Given the description of an element on the screen output the (x, y) to click on. 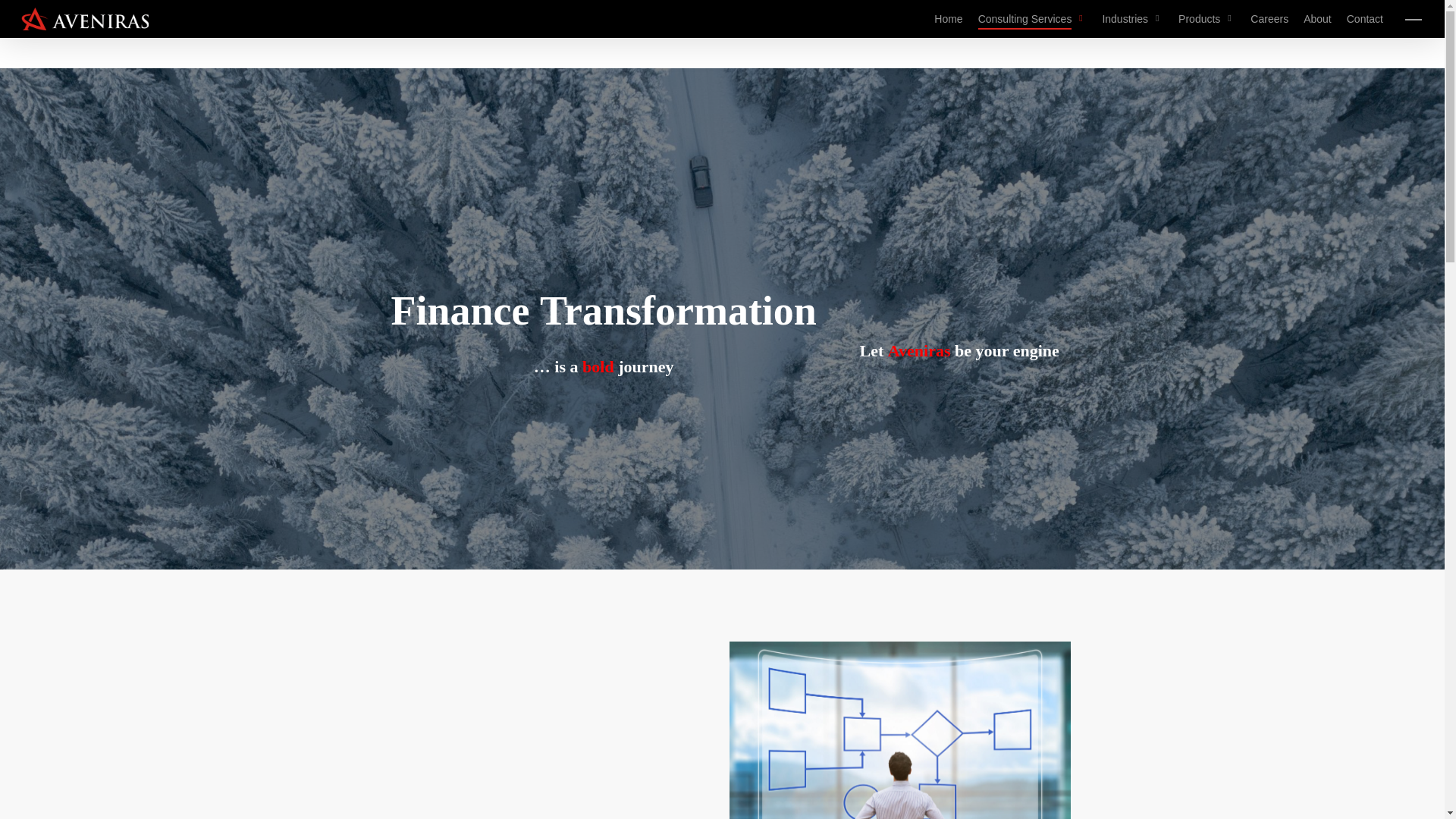
Home (948, 18)
Menu (1414, 18)
Industries (1132, 18)
Consulting Services (1032, 18)
About (1317, 18)
Products (1205, 18)
Contact (1364, 18)
Careers (1269, 18)
